Given the description of an element on the screen output the (x, y) to click on. 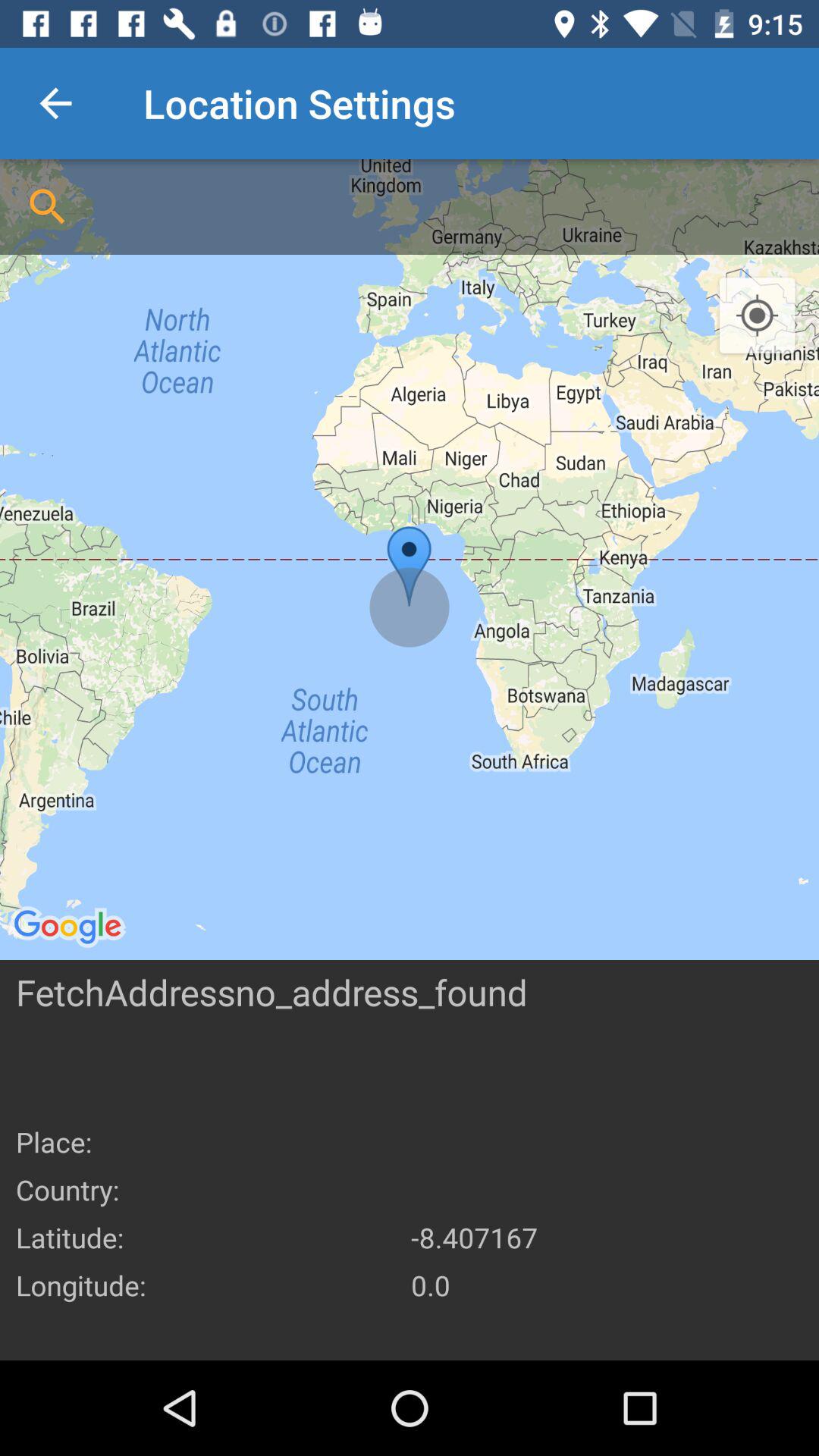
launch the item to the left of the location settings (55, 103)
